Given the description of an element on the screen output the (x, y) to click on. 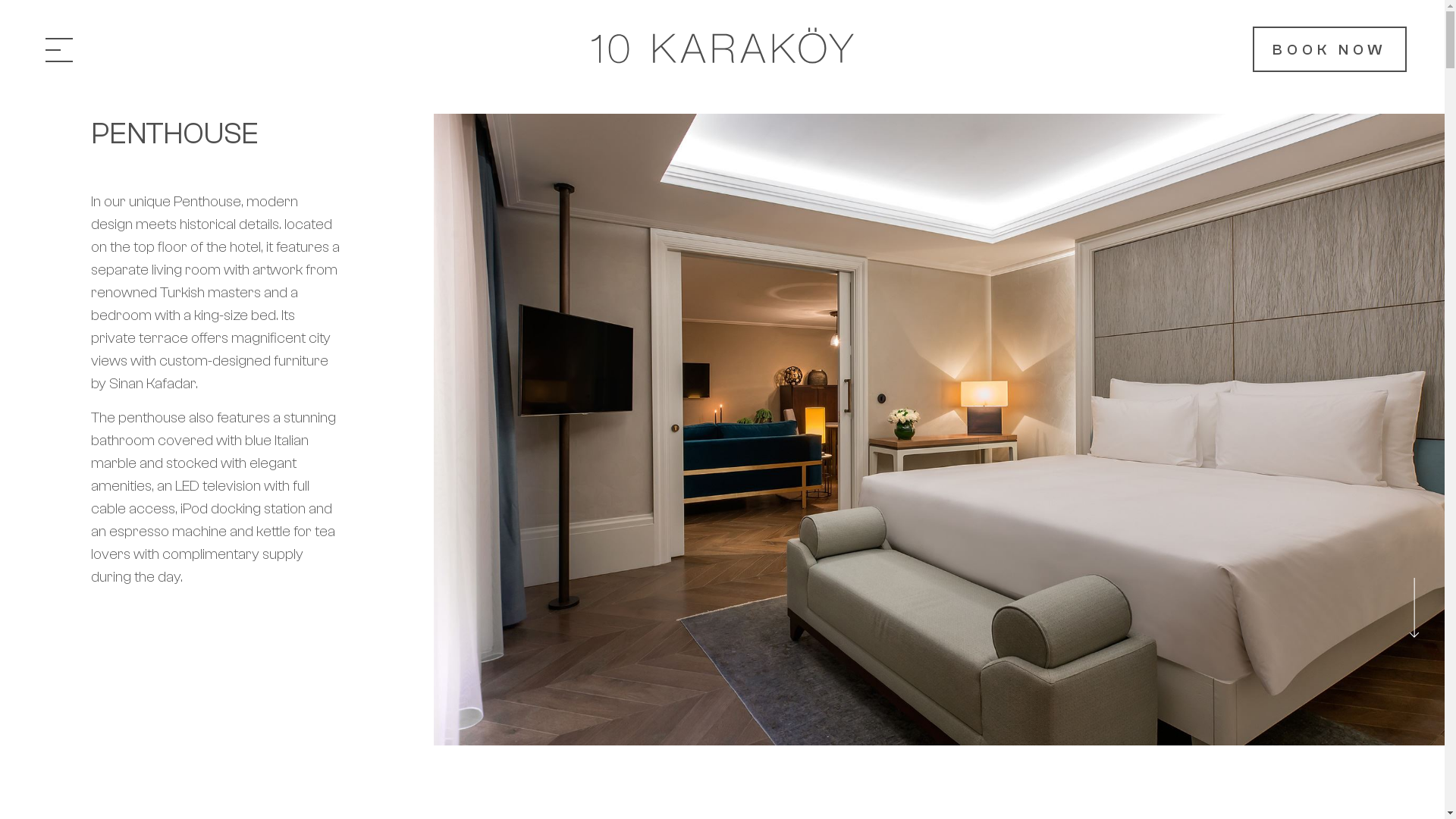
BOOK NOW Element type: text (1329, 49)
